Given the description of an element on the screen output the (x, y) to click on. 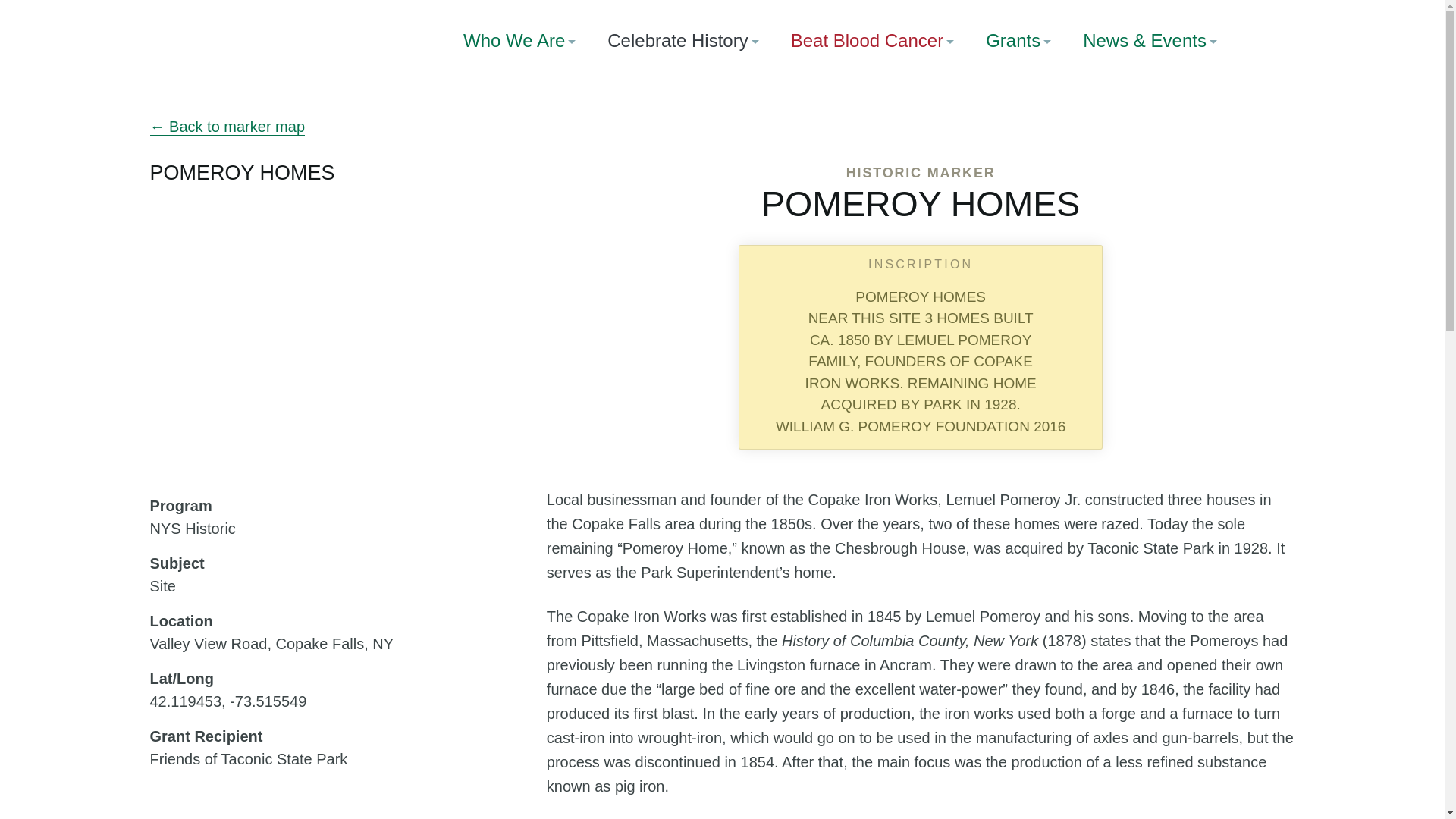
Grants (1018, 40)
Who We Are (518, 40)
Beat Blood Cancer (871, 40)
Celebrate History (682, 40)
